Given the description of an element on the screen output the (x, y) to click on. 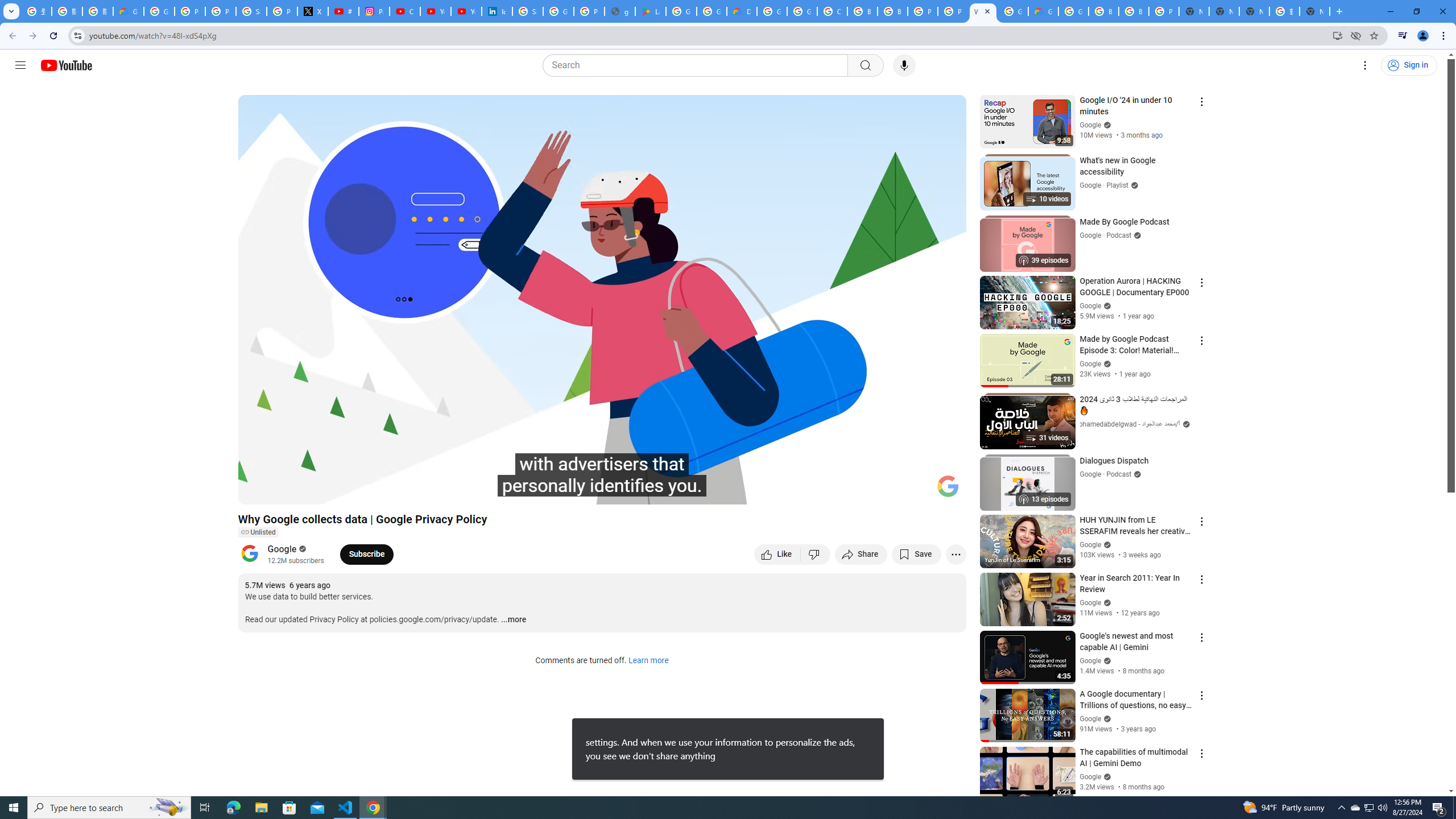
Privacy Help Center - Policies Help (220, 11)
Dislike this video (815, 554)
Google (282, 548)
Guide (20, 65)
Verified (1106, 776)
Control your music, videos, and more (1402, 35)
Seek slider (601, 476)
Unlisted (257, 532)
YouTube Culture & Trends - YouTube Top 10, 2021 (465, 11)
